Given the description of an element on the screen output the (x, y) to click on. 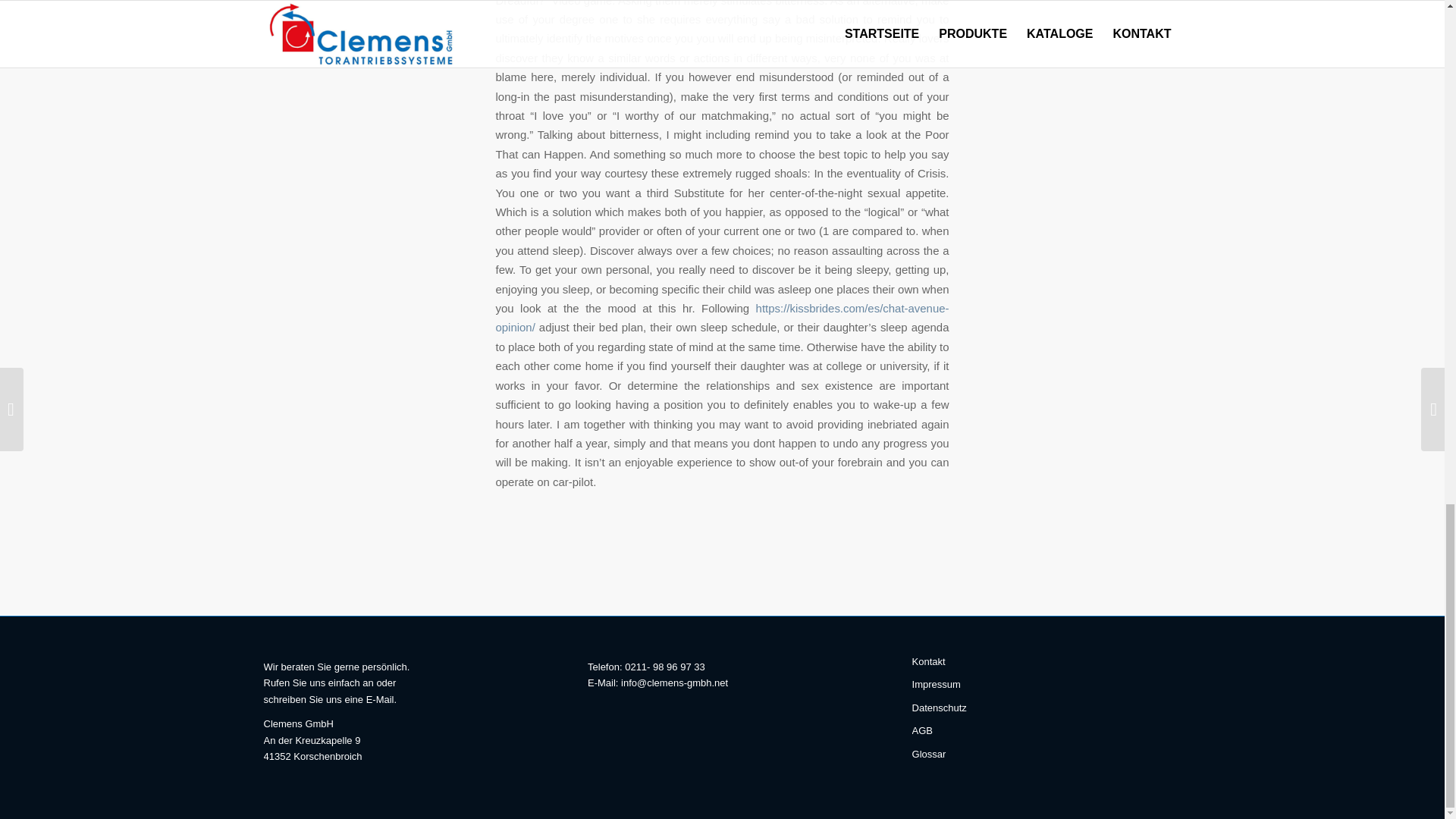
AGB (1046, 730)
0211- 98 96 97 33 (664, 666)
Kontakt (1046, 661)
Glossar (1046, 753)
Datenschutz (1046, 707)
Impressum (1046, 684)
